Given the description of an element on the screen output the (x, y) to click on. 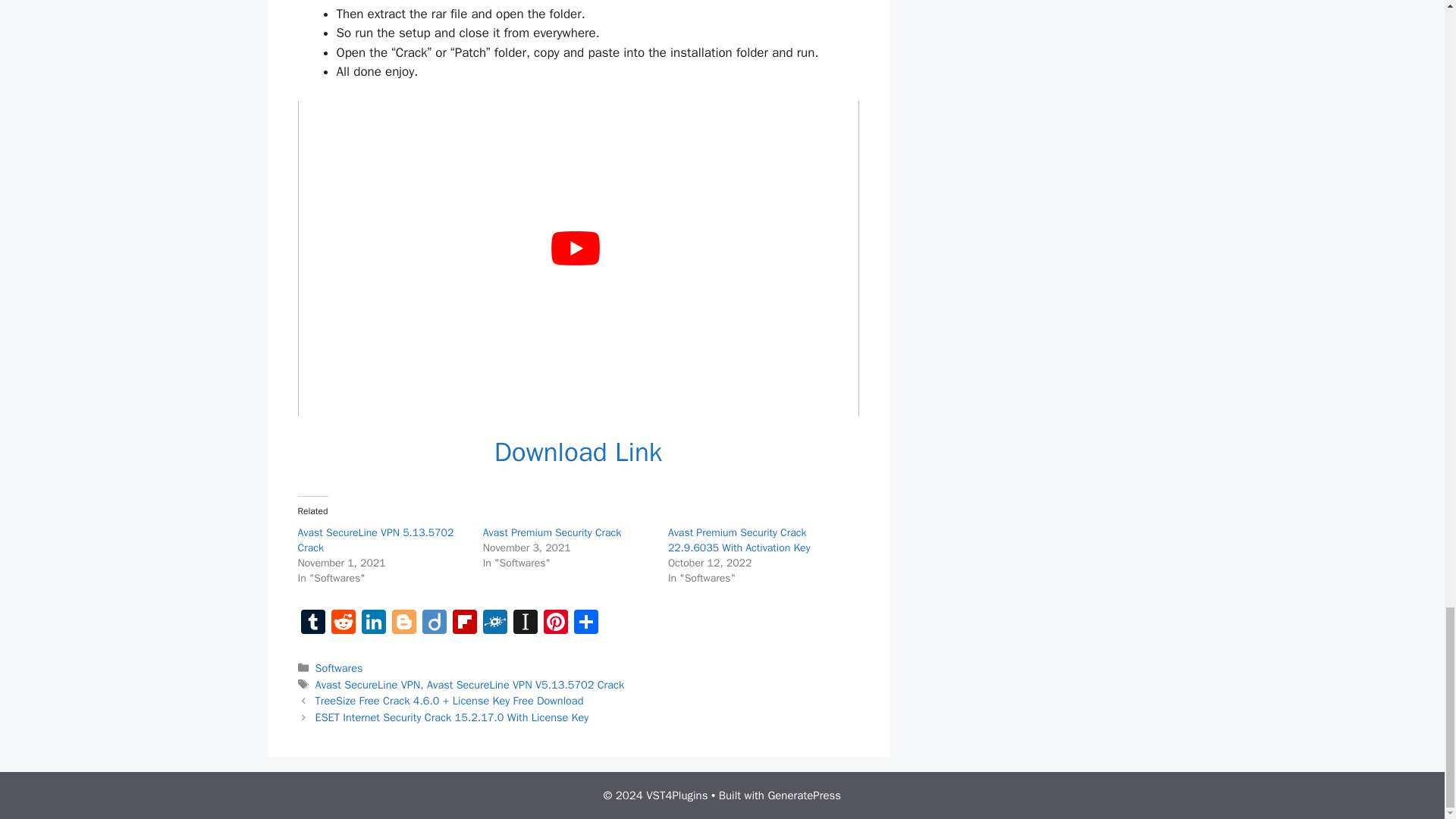
Diigo (433, 623)
Flipboard (463, 623)
Folkd (494, 623)
Avast Premium Security Crack (552, 532)
Flipboard (463, 623)
Instapaper (524, 623)
GeneratePress (804, 795)
Reddit (342, 623)
Pinterest (555, 623)
LinkedIn (373, 623)
